Given the description of an element on the screen output the (x, y) to click on. 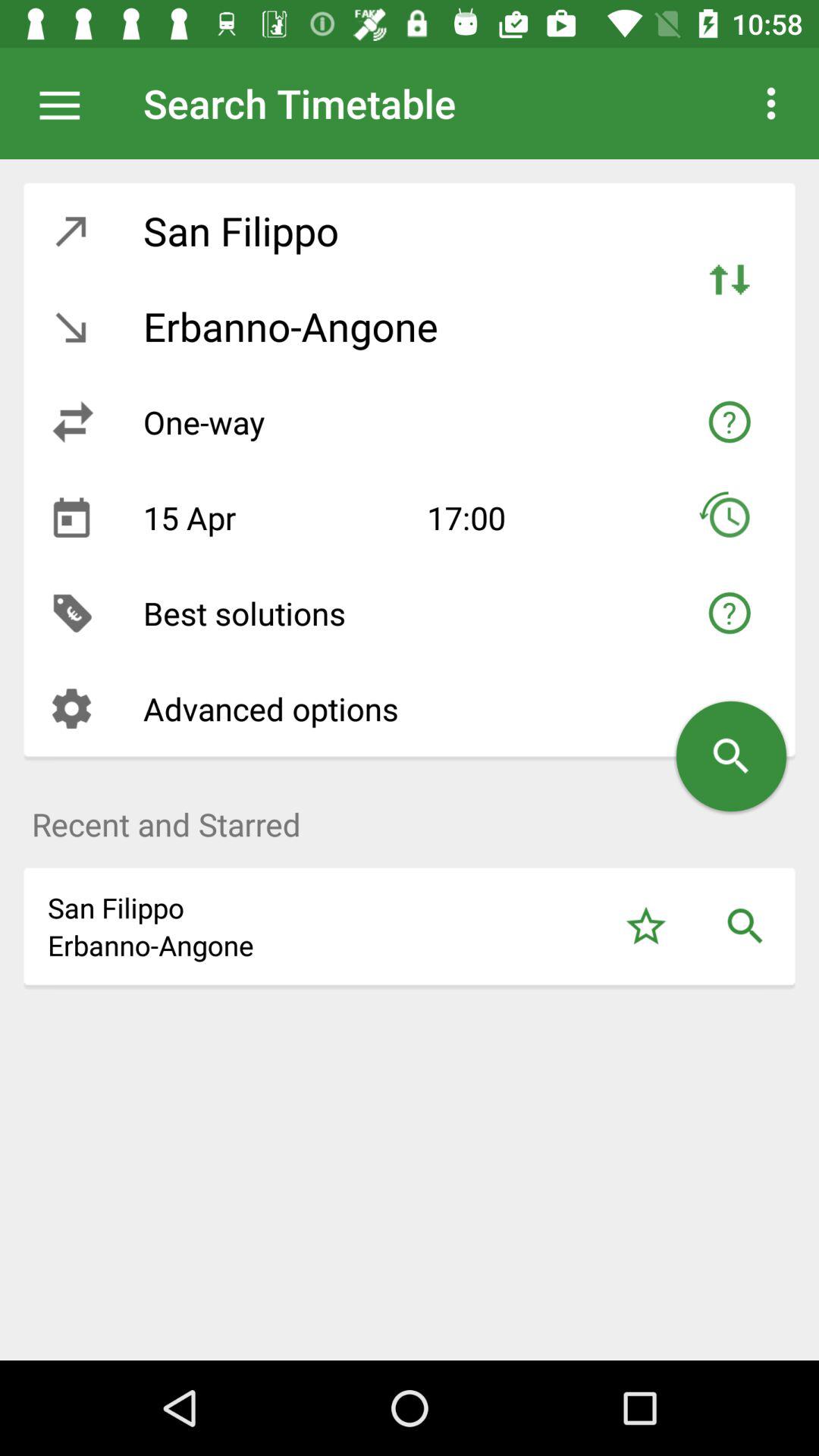
select the item below the one-way icon (273, 517)
